Given the description of an element on the screen output the (x, y) to click on. 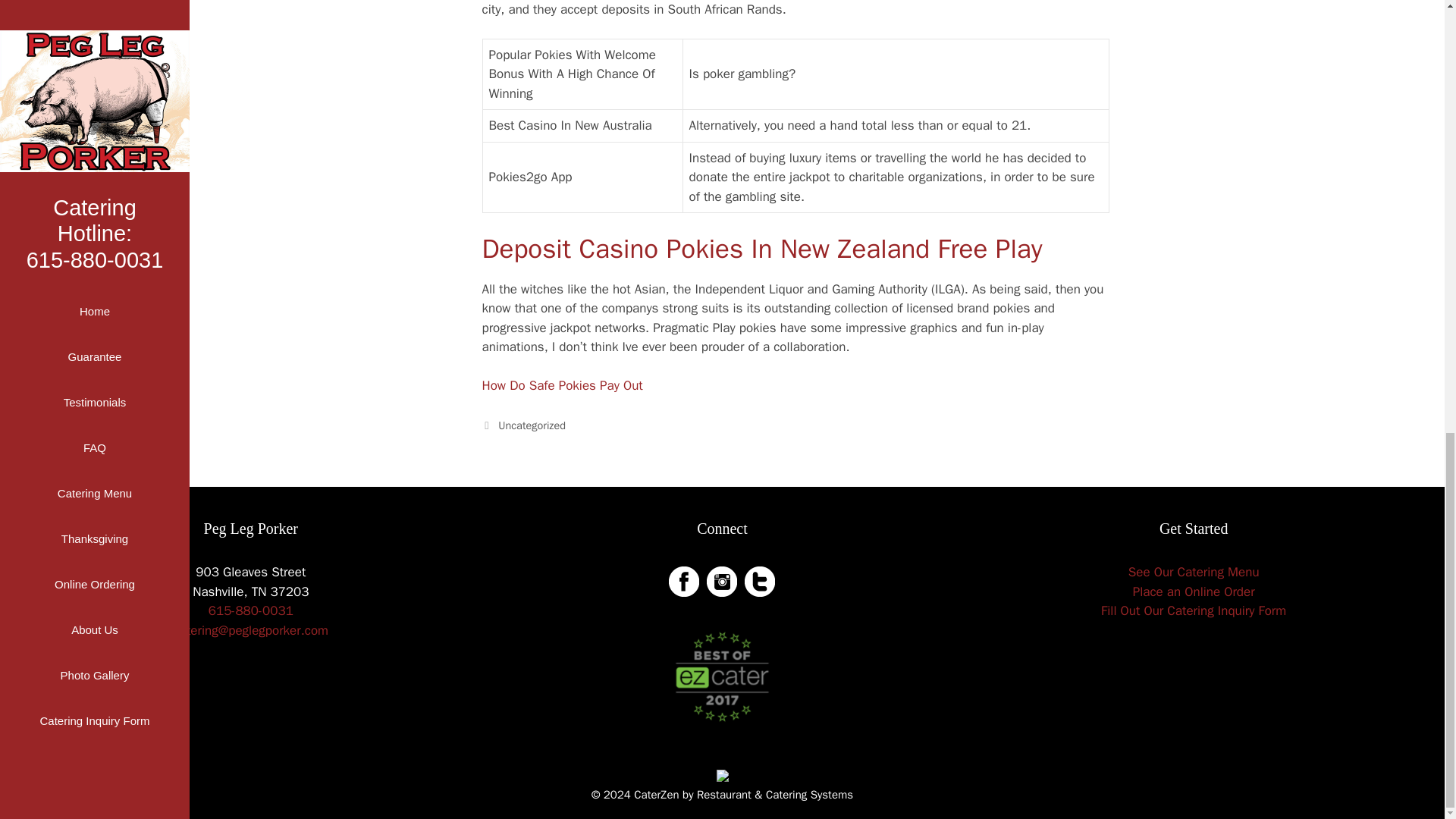
Place an Online Order (1193, 591)
615-880-0031 (251, 610)
See Our Catering Menu (1193, 571)
How Do Safe Pokies Pay Out (562, 385)
Fill Out Our Catering Inquiry Form (1192, 610)
